Given the description of an element on the screen output the (x, y) to click on. 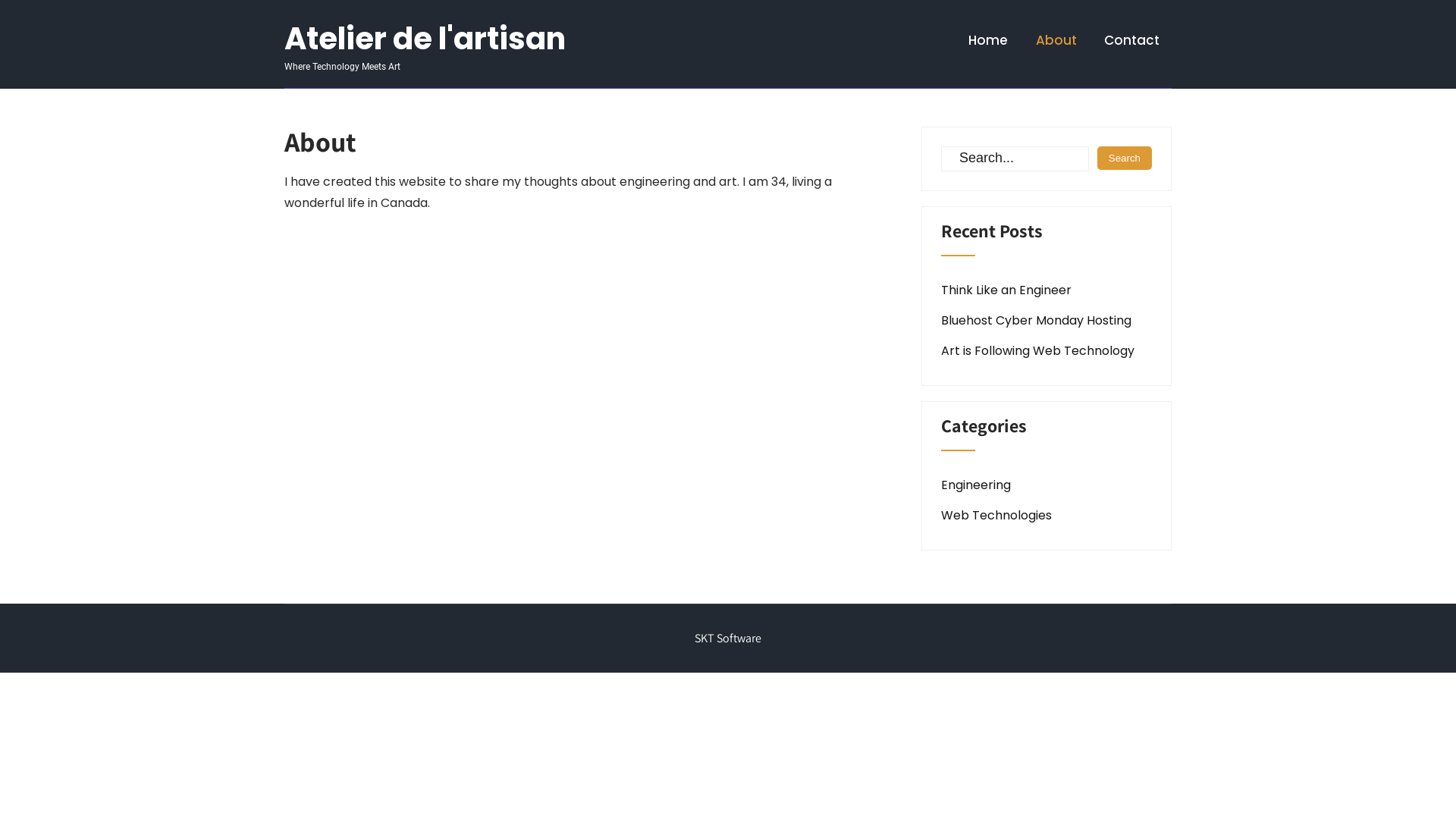
Engineering Element type: text (975, 485)
Atelier de l'artisan
Where Technology Meets Art Element type: text (424, 50)
Contact Element type: text (1131, 40)
Web Technologies Element type: text (996, 515)
About Element type: text (1055, 40)
Art is Following Web Technology Element type: text (1037, 350)
Bluehost Cyber Monday Hosting Element type: text (1036, 319)
Search Element type: text (1124, 157)
Home Element type: text (987, 40)
Think Like an Engineer Element type: text (1006, 289)
